Given the description of an element on the screen output the (x, y) to click on. 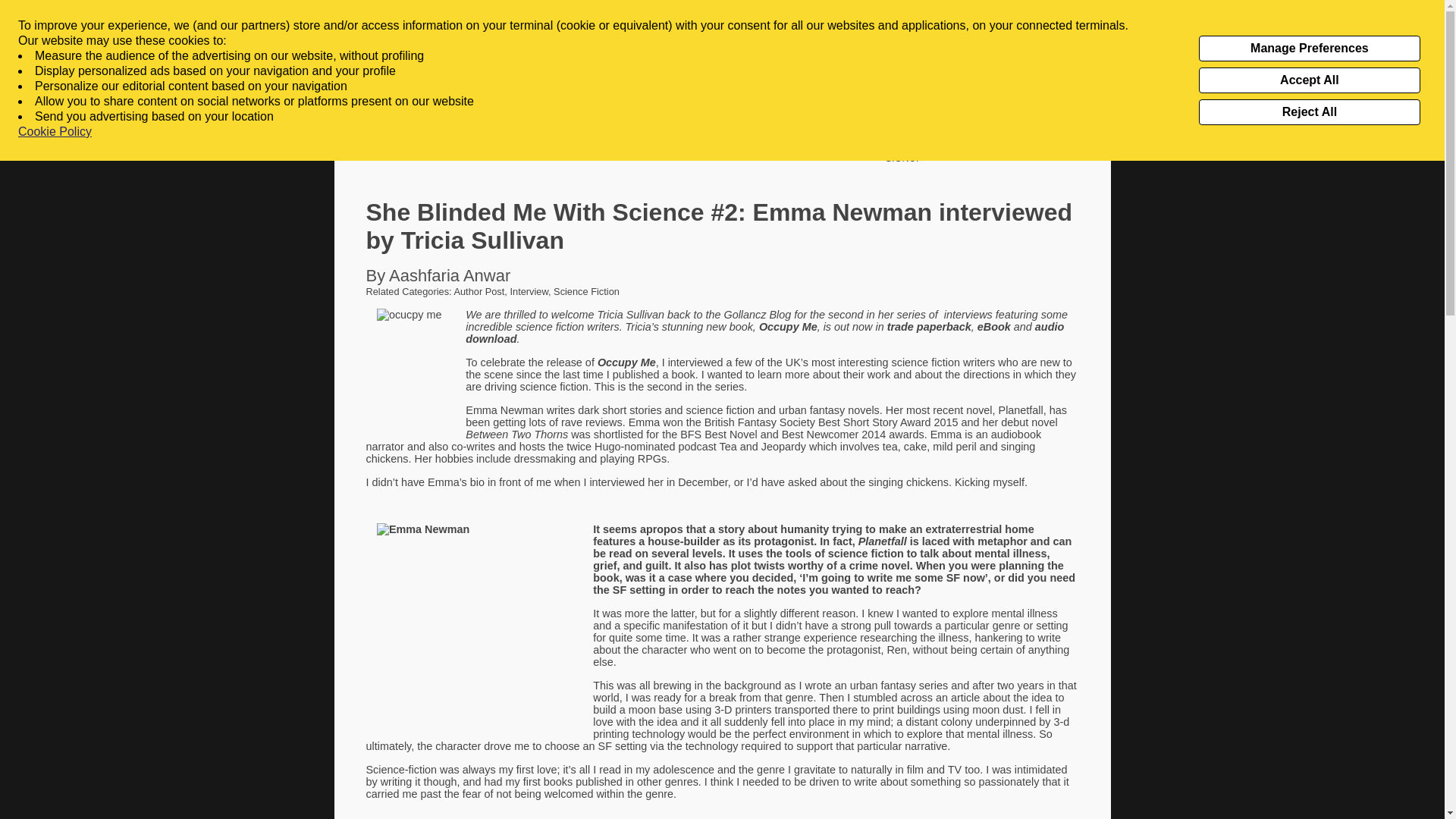
SF GATEWAY (598, 146)
Author Post (477, 291)
Twitter (1018, 17)
Cookie Policy (54, 131)
ABOUT GOLLANCZ (504, 146)
Reject All (1309, 112)
trade paperback (928, 326)
Planetfall (1020, 410)
Accept All (1309, 80)
Occupy Me, (791, 326)
Instagram (1042, 17)
Emma Newman (504, 410)
BOOKS (359, 146)
ONLINE STORE (682, 146)
Interview (528, 291)
